Given the description of an element on the screen output the (x, y) to click on. 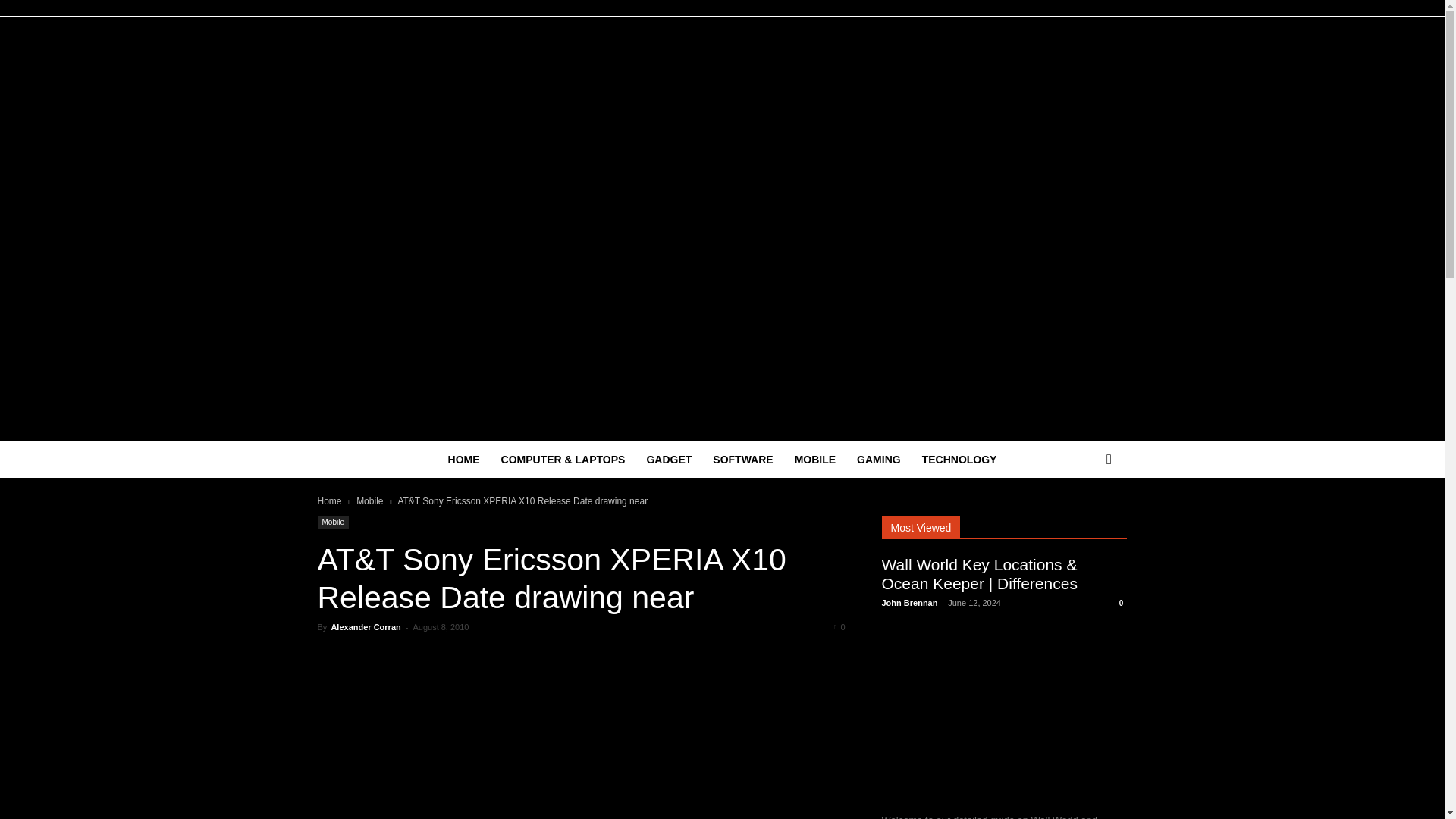
Alexander Corran (365, 626)
GADGET (667, 459)
GAMING (878, 459)
Search (1085, 519)
View all posts in Mobile (369, 501)
TECHNOLOGY (959, 459)
Home (328, 501)
MOBILE (814, 459)
HOME (464, 459)
Mobile (369, 501)
